Given the description of an element on the screen output the (x, y) to click on. 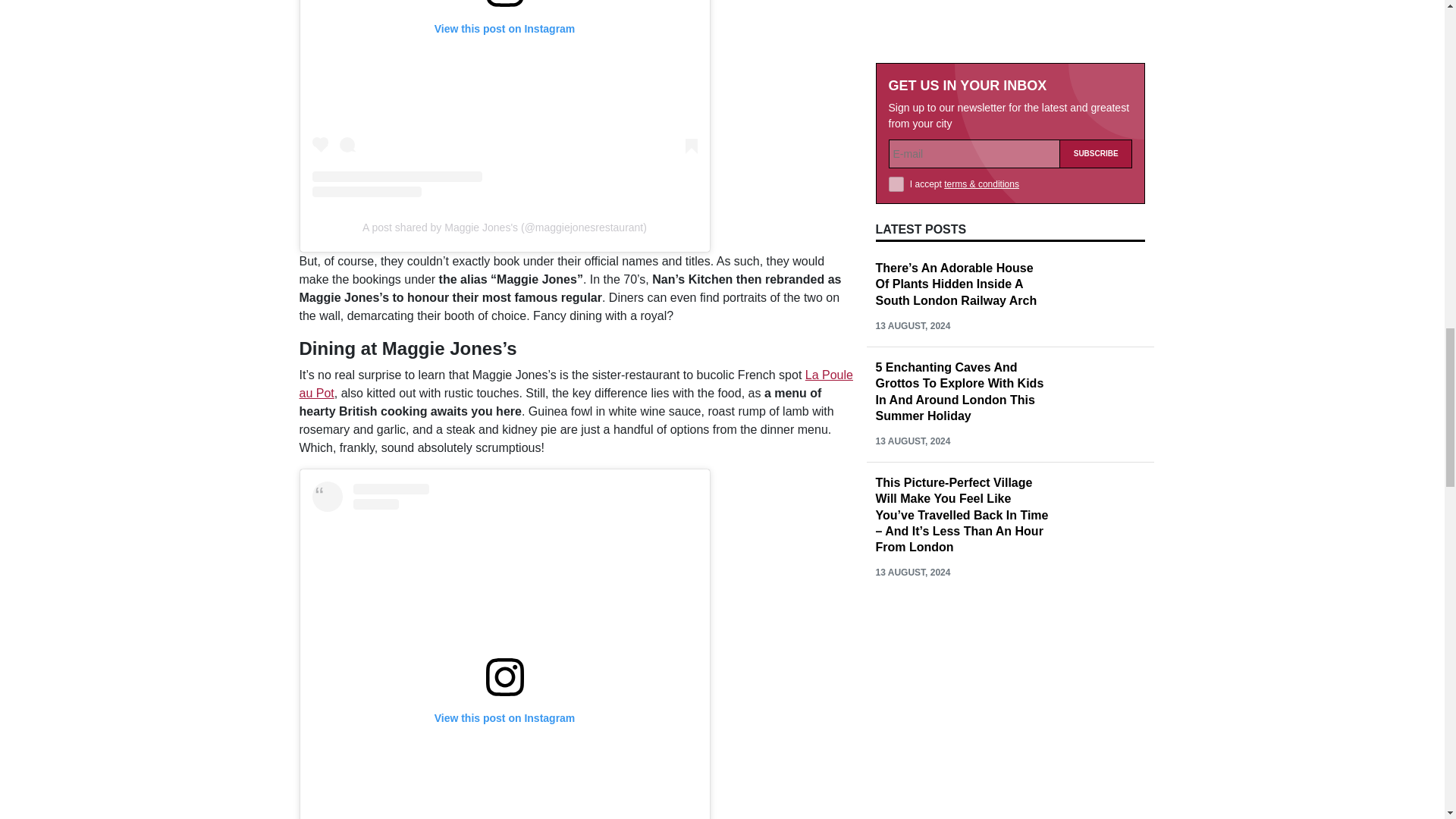
La Poule au Pot (574, 383)
View this post on Instagram (505, 650)
View this post on Instagram (505, 98)
